Given the description of an element on the screen output the (x, y) to click on. 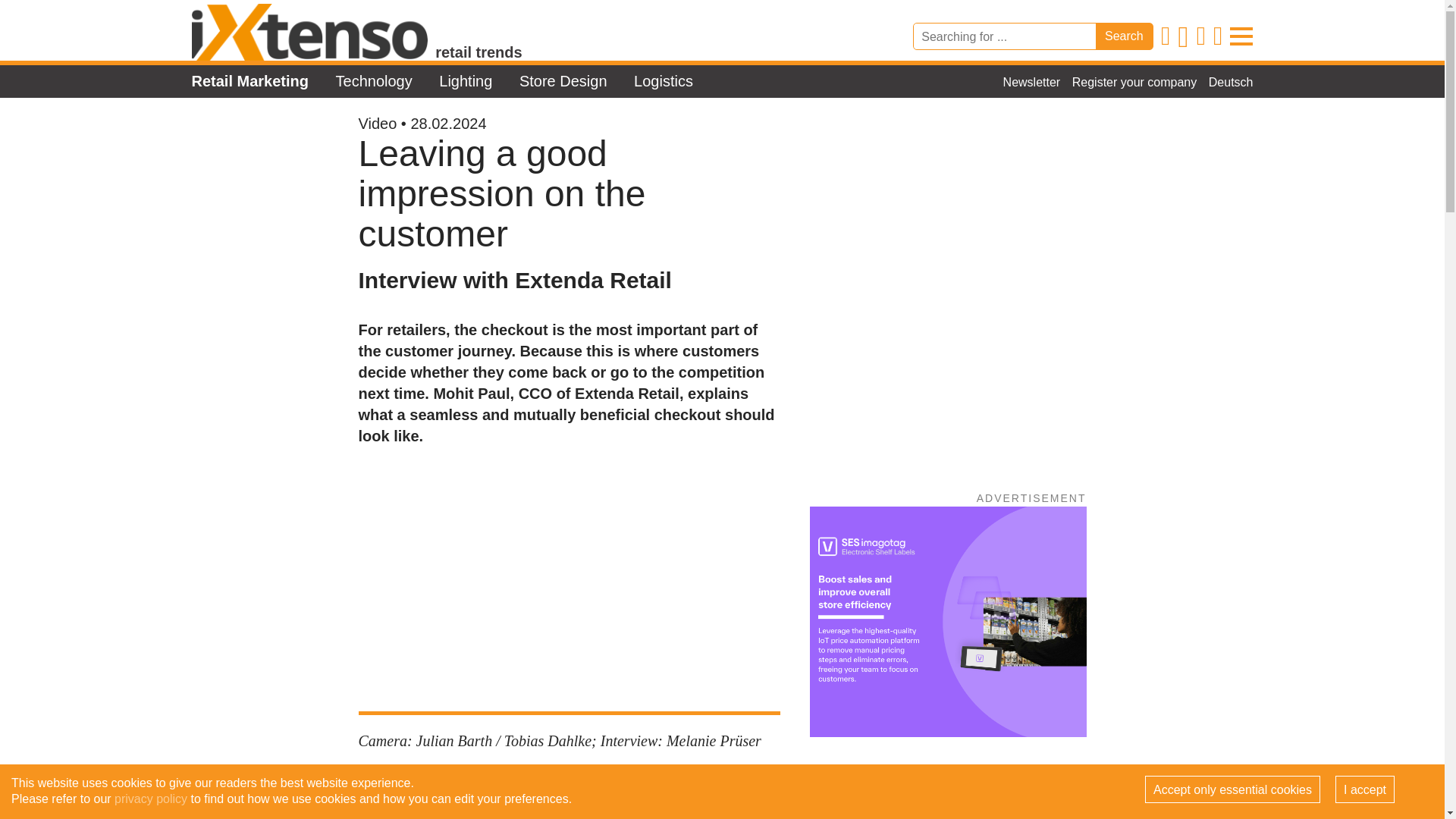
Menu (1241, 36)
Logistics (663, 80)
Retail Marketing (248, 80)
Lighting (465, 80)
Search (1124, 36)
Technology (374, 80)
Store Design (563, 80)
Request for more information (569, 793)
Newsletter (1032, 82)
Deutsch (1230, 82)
